Given the description of an element on the screen output the (x, y) to click on. 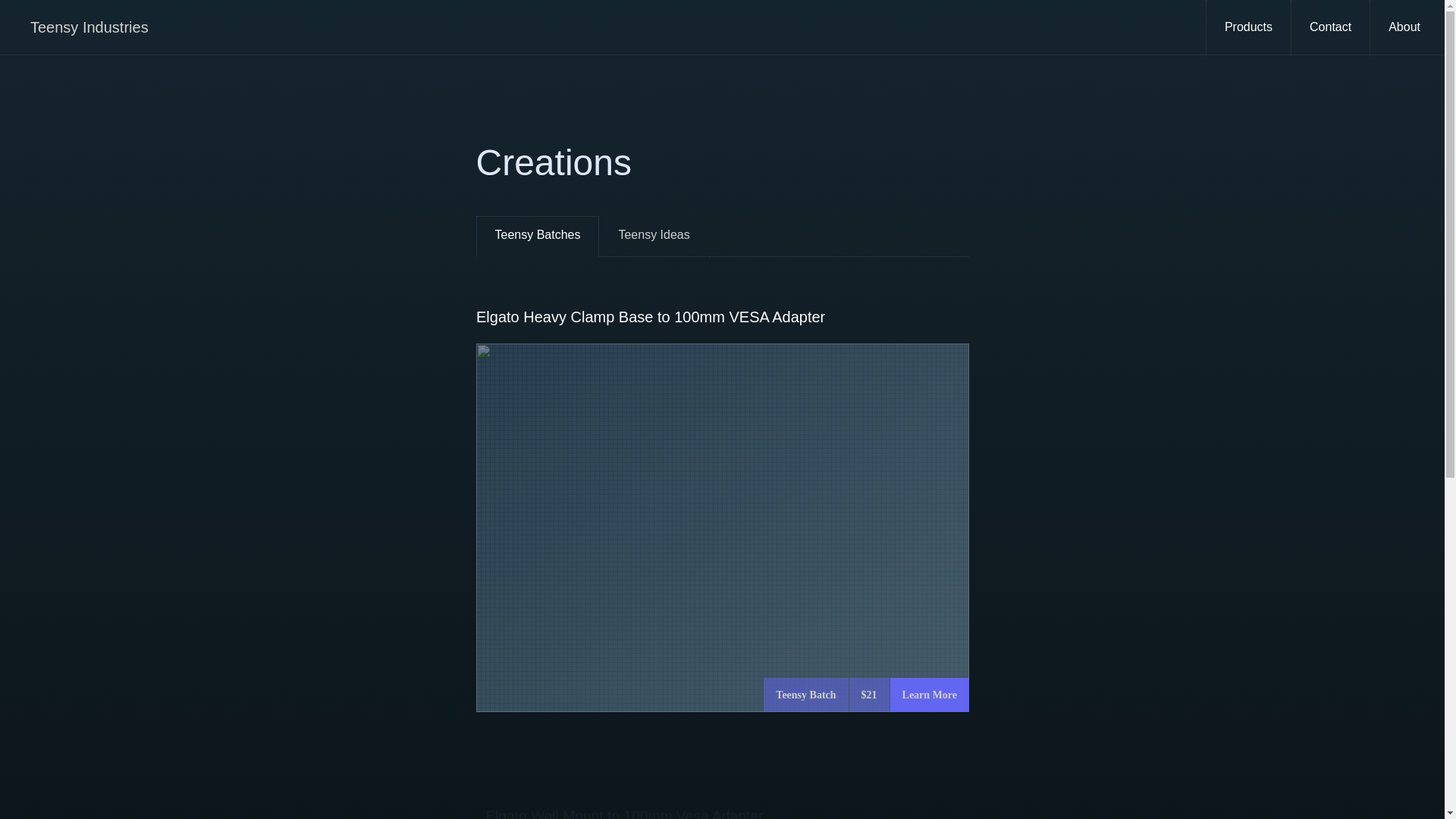
Teensy Ideas (652, 236)
Products (1248, 27)
Teensy Industries (89, 27)
Contact (1330, 27)
Teensy Batches (537, 236)
